Given the description of an element on the screen output the (x, y) to click on. 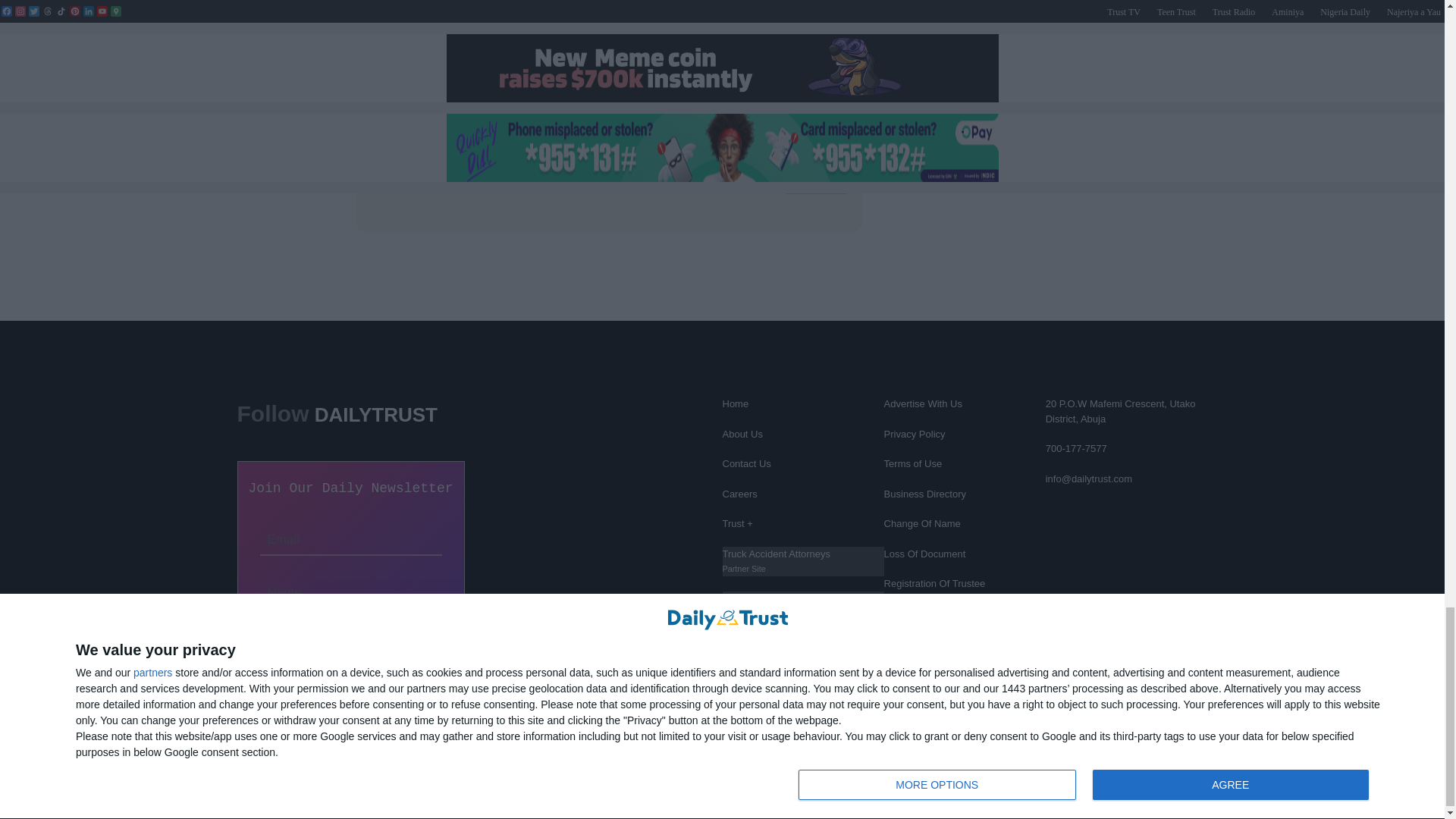
Join Now (350, 639)
